Given the description of an element on the screen output the (x, y) to click on. 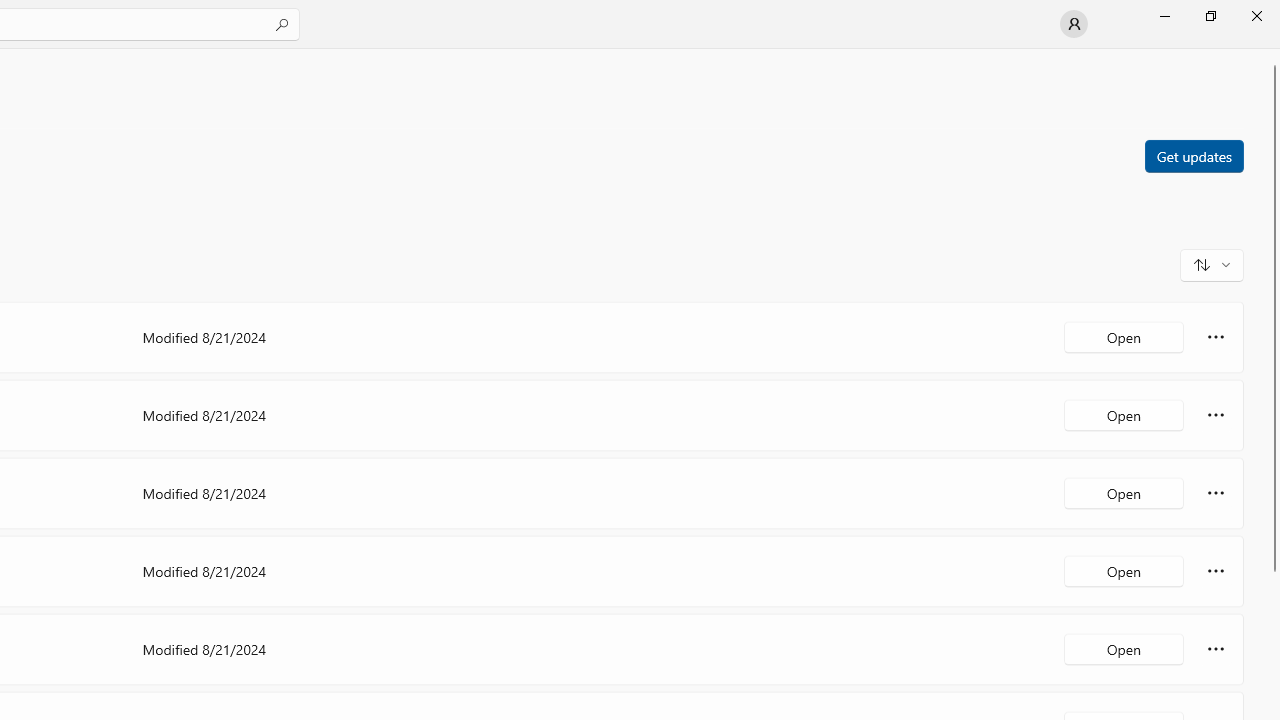
Open (1123, 648)
Sort and filter (1212, 263)
More options (1215, 648)
Vertical Small Decrease (1272, 55)
Get updates (1193, 155)
